Given the description of an element on the screen output the (x, y) to click on. 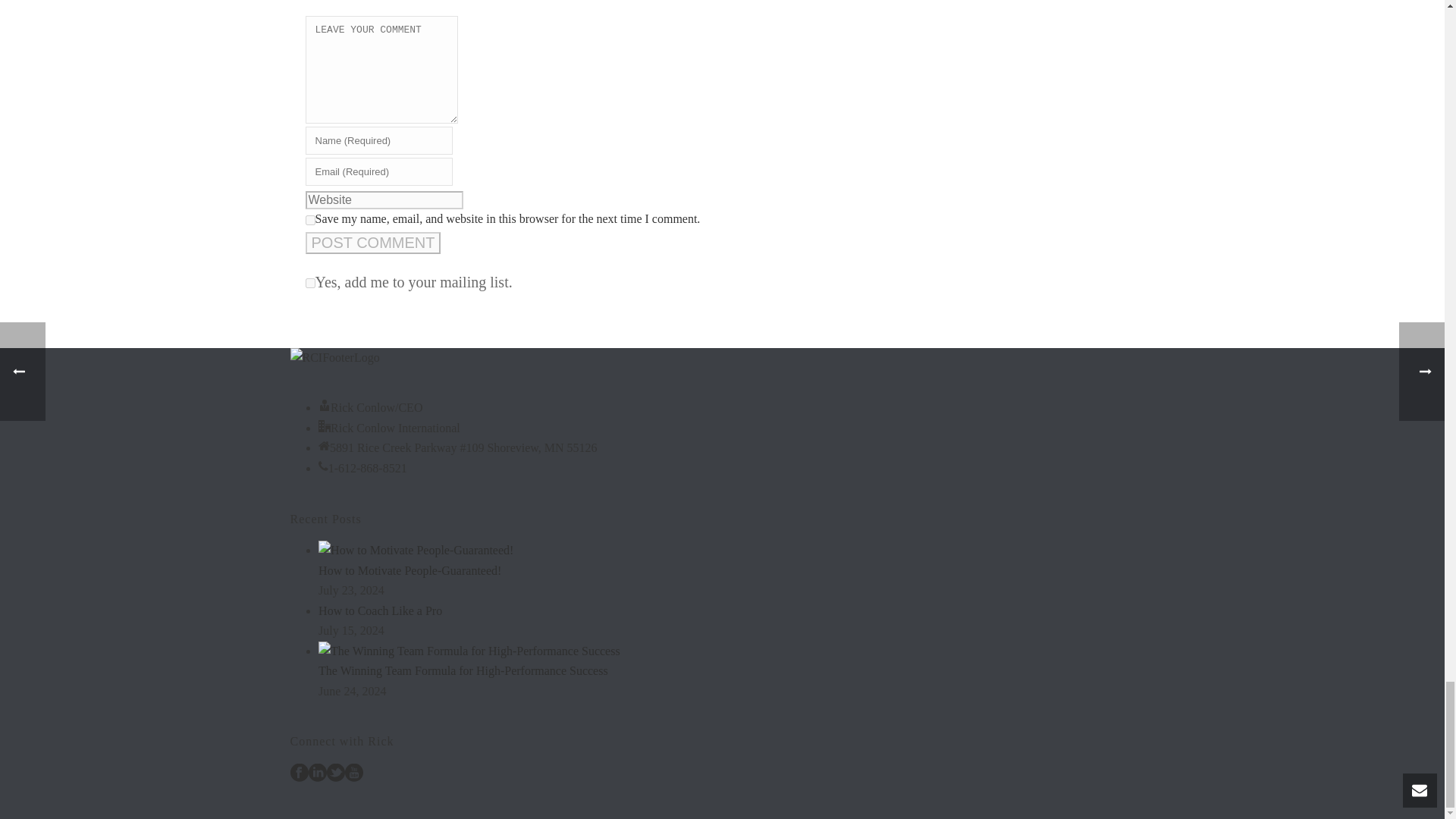
1 (309, 283)
POST COMMENT (372, 242)
yes (309, 220)
